Given the description of an element on the screen output the (x, y) to click on. 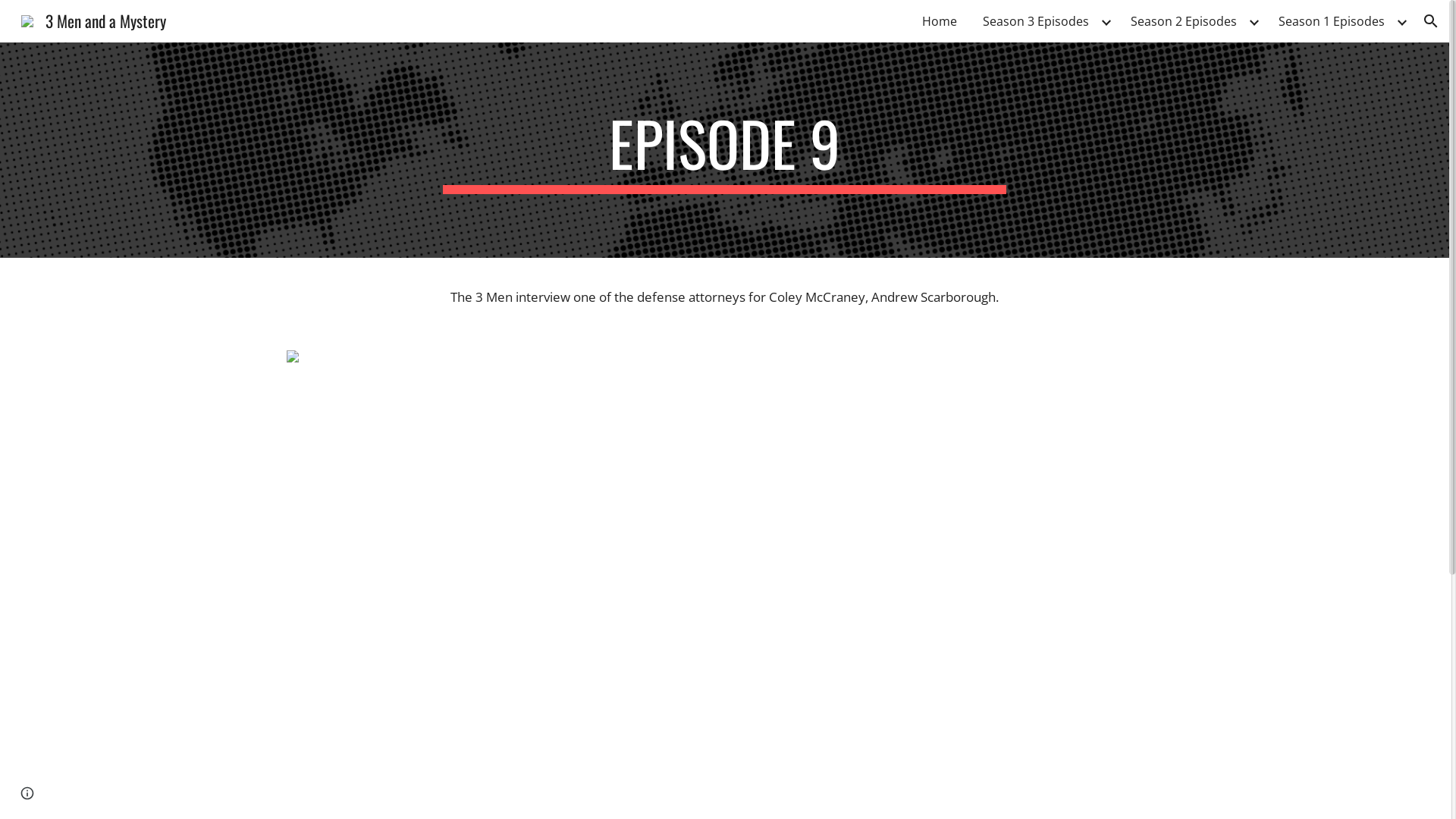
Expand/Collapse Element type: hover (1105, 20)
Expand/Collapse Element type: hover (1401, 20)
Season 1 Episodes Element type: text (1331, 20)
Expand/Collapse Element type: hover (1253, 20)
Season 3 Episodes Element type: text (1035, 20)
Home Element type: text (939, 20)
3 Men and a Mystery Element type: text (93, 18)
Season 2 Episodes Element type: text (1183, 20)
